Given the description of an element on the screen output the (x, y) to click on. 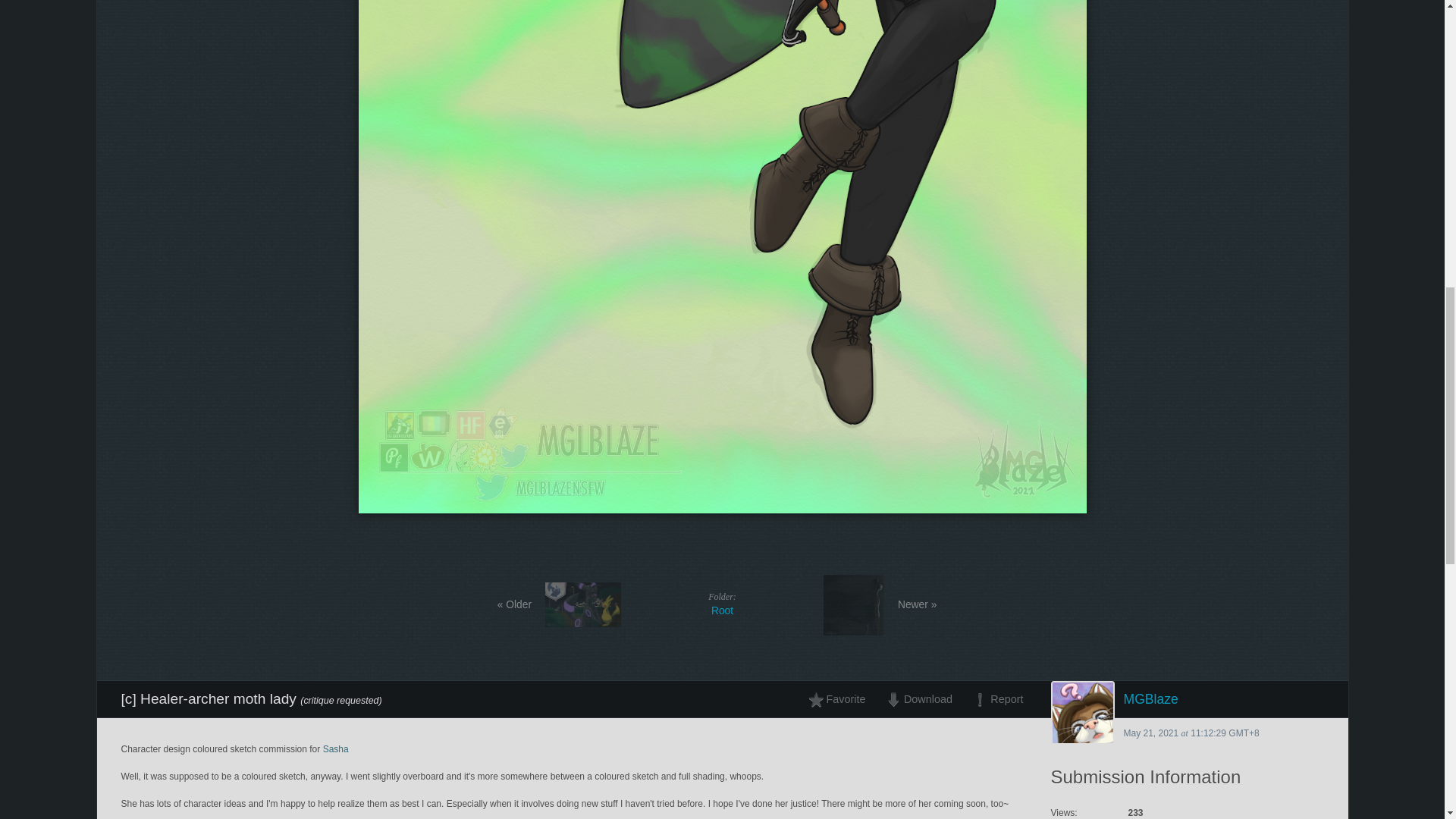
Sasha (336, 748)
Favorite (841, 698)
Download (918, 698)
MGBlaze (721, 603)
Report (1187, 698)
